Given the description of an element on the screen output the (x, y) to click on. 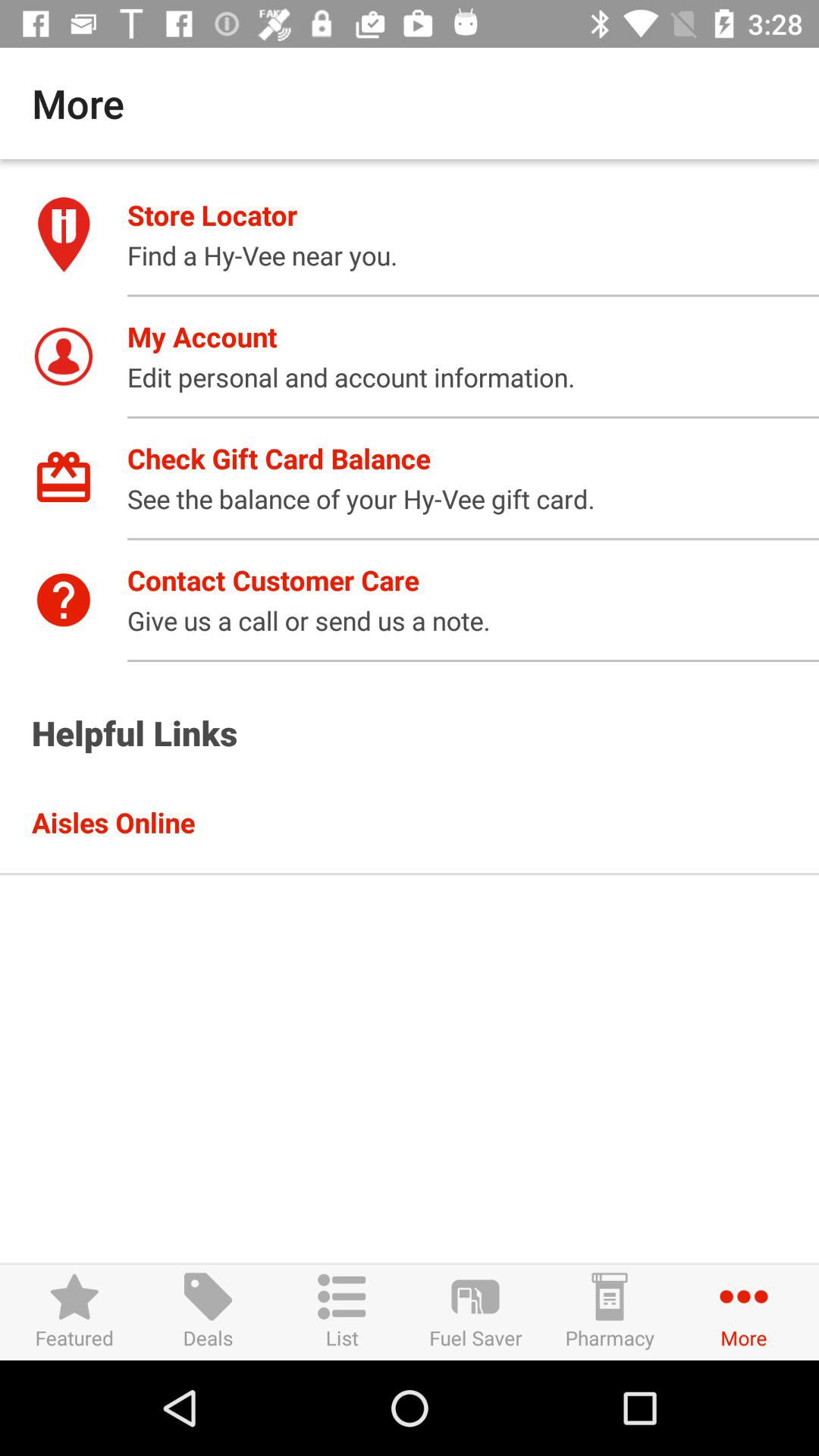
swipe to deals icon (208, 1311)
